Given the description of an element on the screen output the (x, y) to click on. 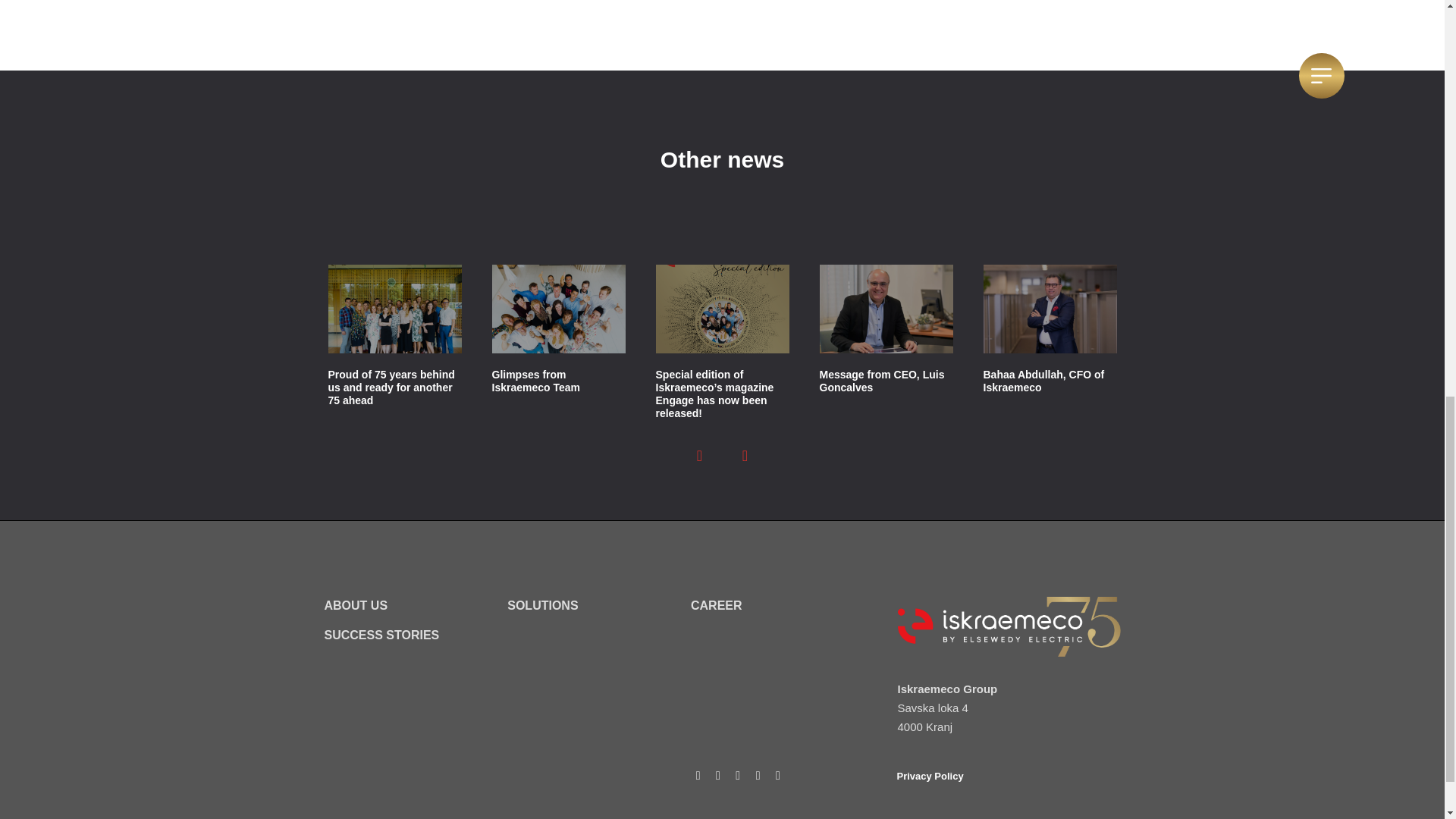
SOLUTIONS (542, 604)
SUCCESS STORIES (381, 634)
CAREER (716, 604)
Privacy Policy (929, 776)
ABOUT US (356, 604)
